Given the description of an element on the screen output the (x, y) to click on. 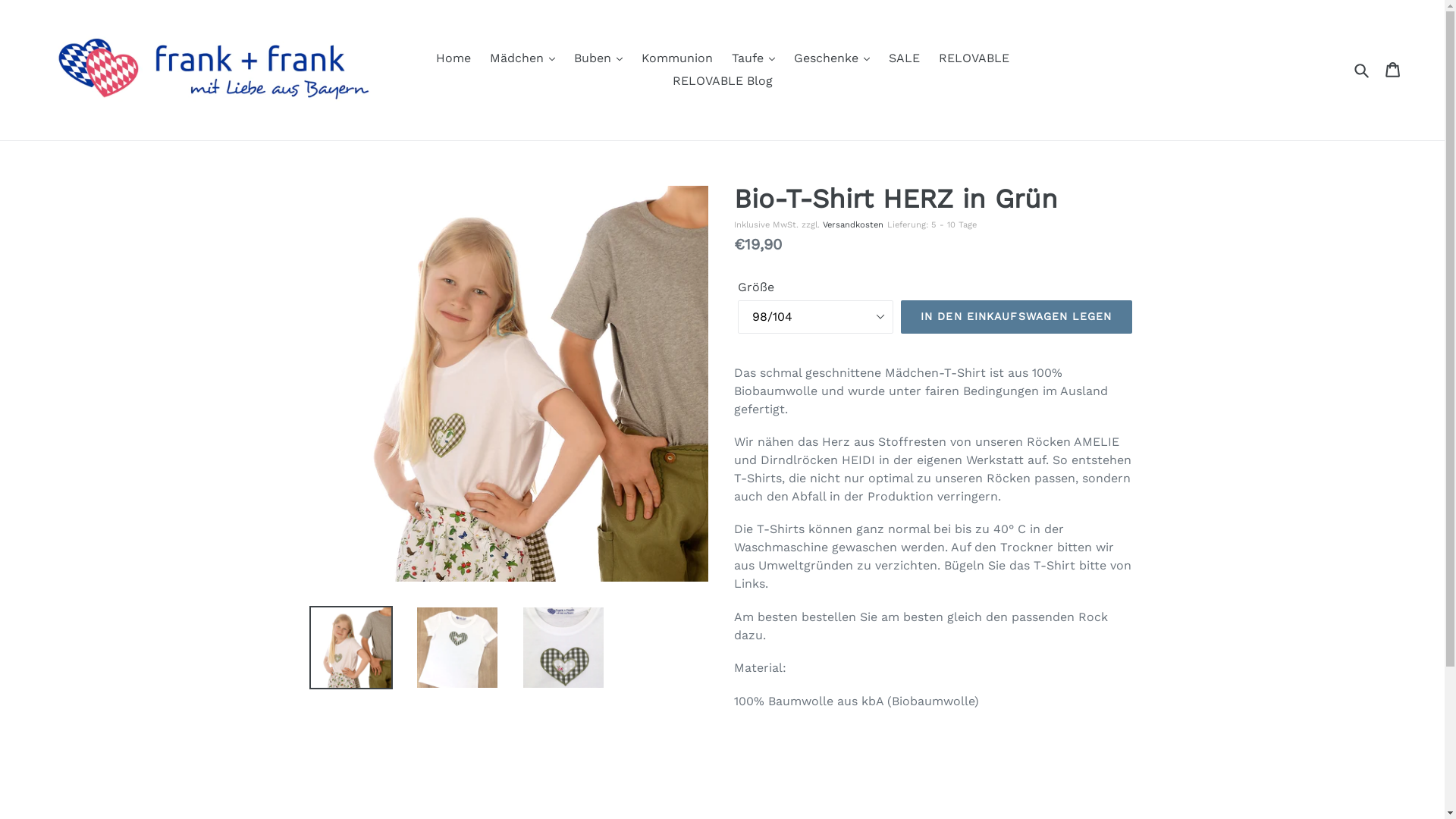
Home Element type: text (452, 58)
Einkaufswagen Element type: text (1393, 70)
IN DEN EINKAUFSWAGEN LEGEN Element type: text (1016, 316)
RELOVABLE Blog Element type: text (721, 80)
RELOVABLE Element type: text (973, 58)
SALE Element type: text (904, 58)
Versandkosten Element type: text (852, 224)
Suchen Element type: text (1362, 69)
Kommunion Element type: text (676, 58)
